Given the description of an element on the screen output the (x, y) to click on. 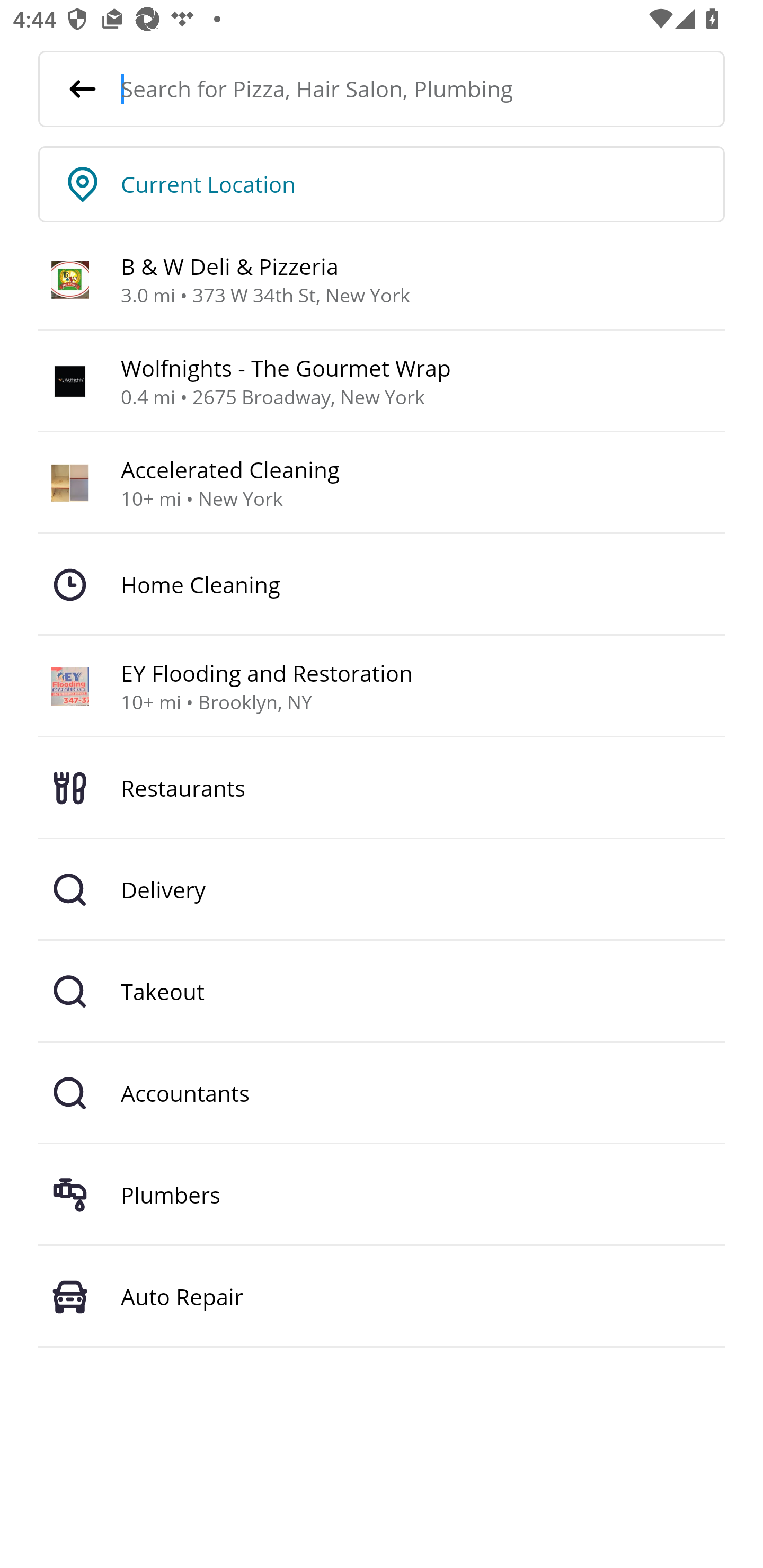
Current Location (422, 184)
